Given the description of an element on the screen output the (x, y) to click on. 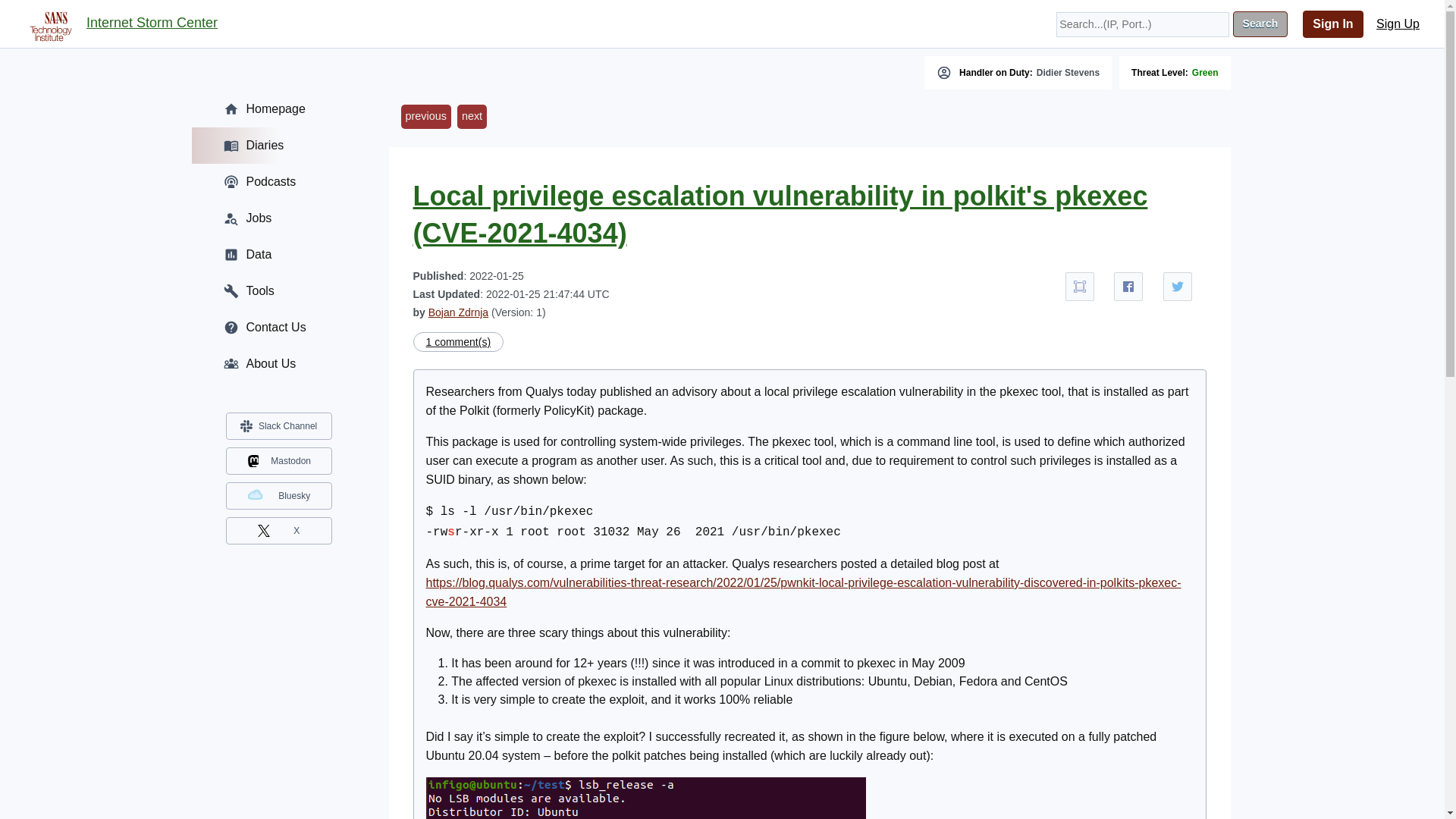
Didier Stevens (1067, 72)
Jobs (277, 217)
Search (1260, 23)
Data (277, 254)
Internet Storm Center (150, 23)
Didier Stevens (1067, 72)
Diaries (277, 145)
previous (424, 116)
Sign In (1332, 24)
Full Screen (1079, 286)
Bojan Zdrnja (457, 312)
Green (1205, 72)
Podcasts (277, 181)
Share on Facebook (1127, 286)
Homepage (277, 108)
